Given the description of an element on the screen output the (x, y) to click on. 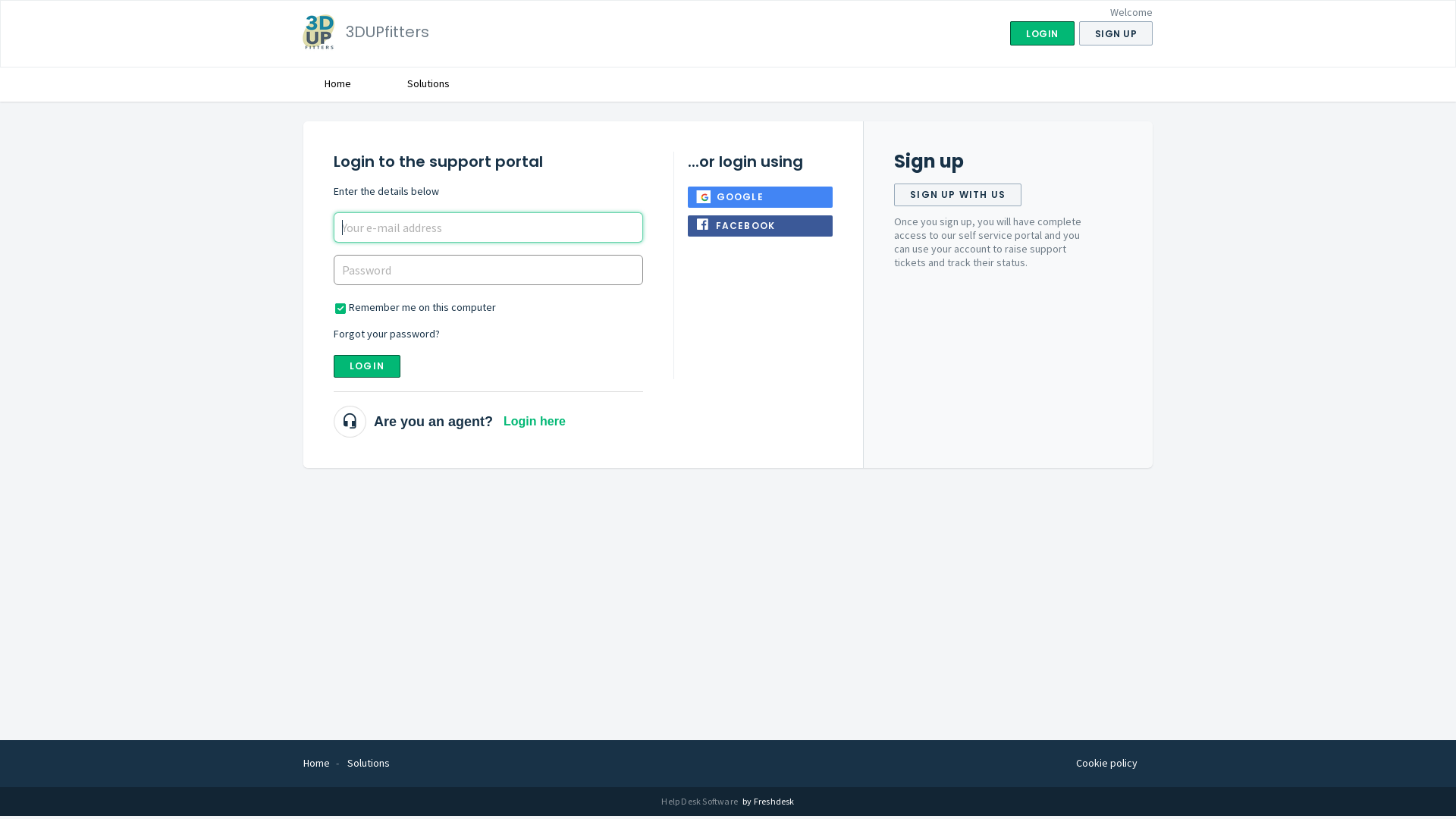
Solutions Element type: text (428, 83)
LOGIN Element type: text (1042, 33)
Home Element type: text (316, 762)
LOGIN Element type: text (366, 365)
SIGN UP WITH US Element type: text (957, 194)
Login here Element type: text (534, 421)
Home Element type: text (337, 83)
Help Desk Software Element type: text (701, 800)
FACEBOOK Element type: text (760, 225)
Cookie policy Element type: text (1106, 763)
Forgot your password? Element type: text (386, 333)
GOOGLE Element type: text (760, 196)
Solutions Element type: text (368, 762)
SIGN UP Element type: text (1115, 33)
